Given the description of an element on the screen output the (x, y) to click on. 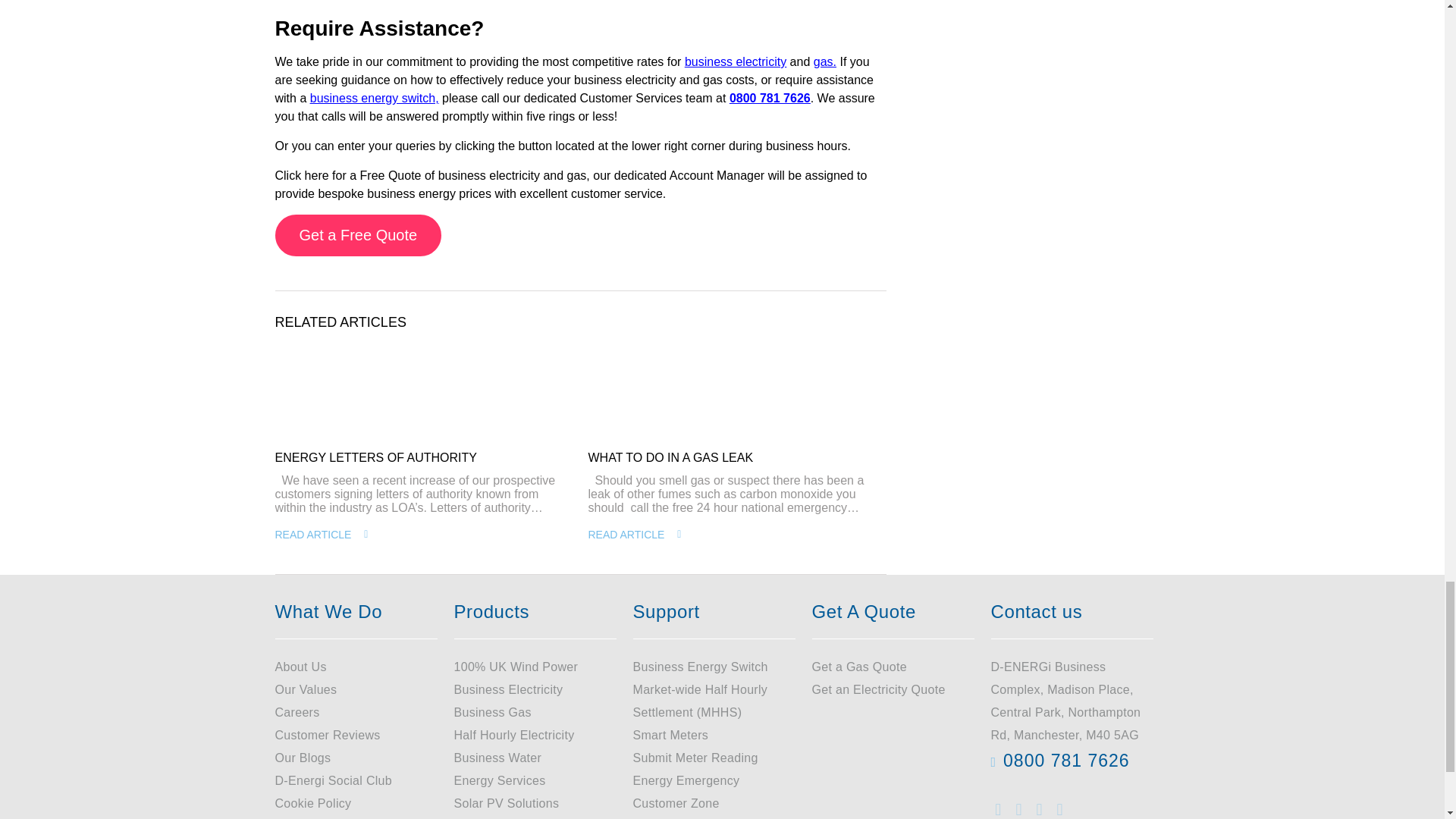
0800 781 7626 (769, 98)
business energy switch, (374, 98)
gas. (824, 62)
business electricity (735, 62)
Get a Free Quote (358, 235)
